Given the description of an element on the screen output the (x, y) to click on. 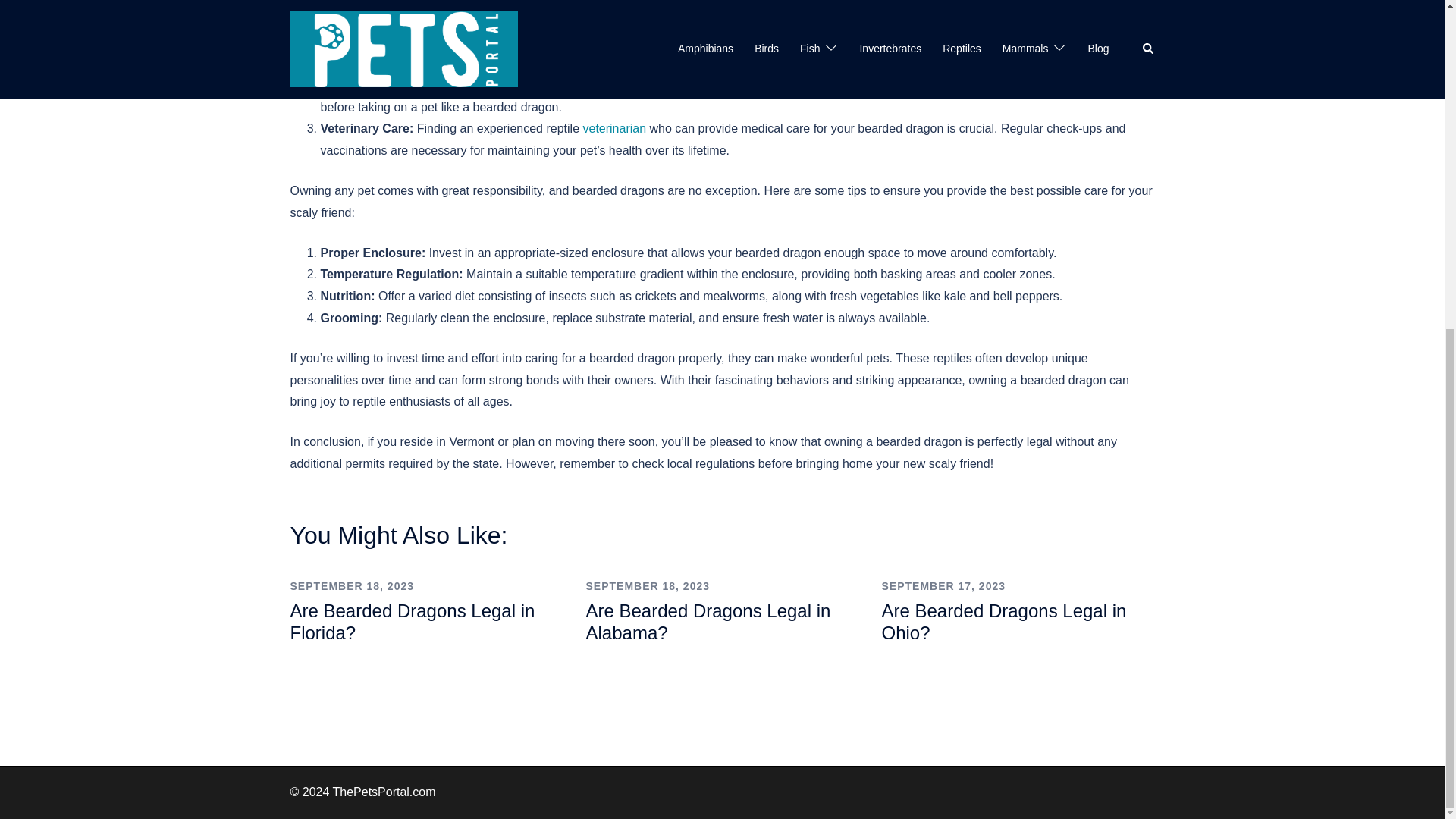
veterinarian (614, 128)
